Given the description of an element on the screen output the (x, y) to click on. 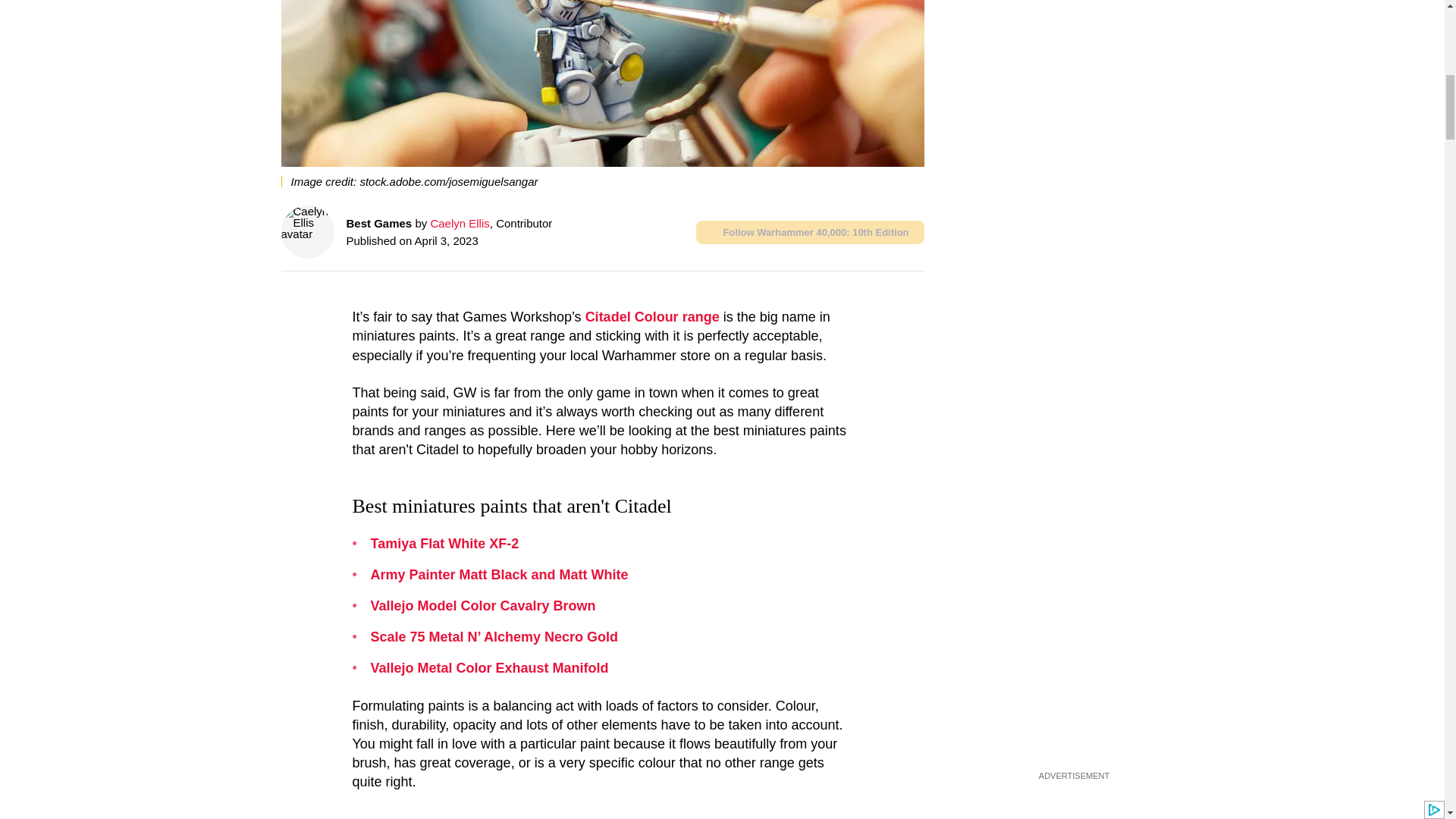
Caelyn Ellis (459, 223)
Tamiya Flat White XF-2 (443, 543)
Citadel Colour range (652, 316)
Vallejo Model Color Cavalry Brown (482, 605)
Follow Warhammer 40,000: 10th Edition (809, 232)
Vallejo Metal Color Exhaust Manifold (488, 667)
Army Painter Matt Black and Matt White (498, 574)
